Given the description of an element on the screen output the (x, y) to click on. 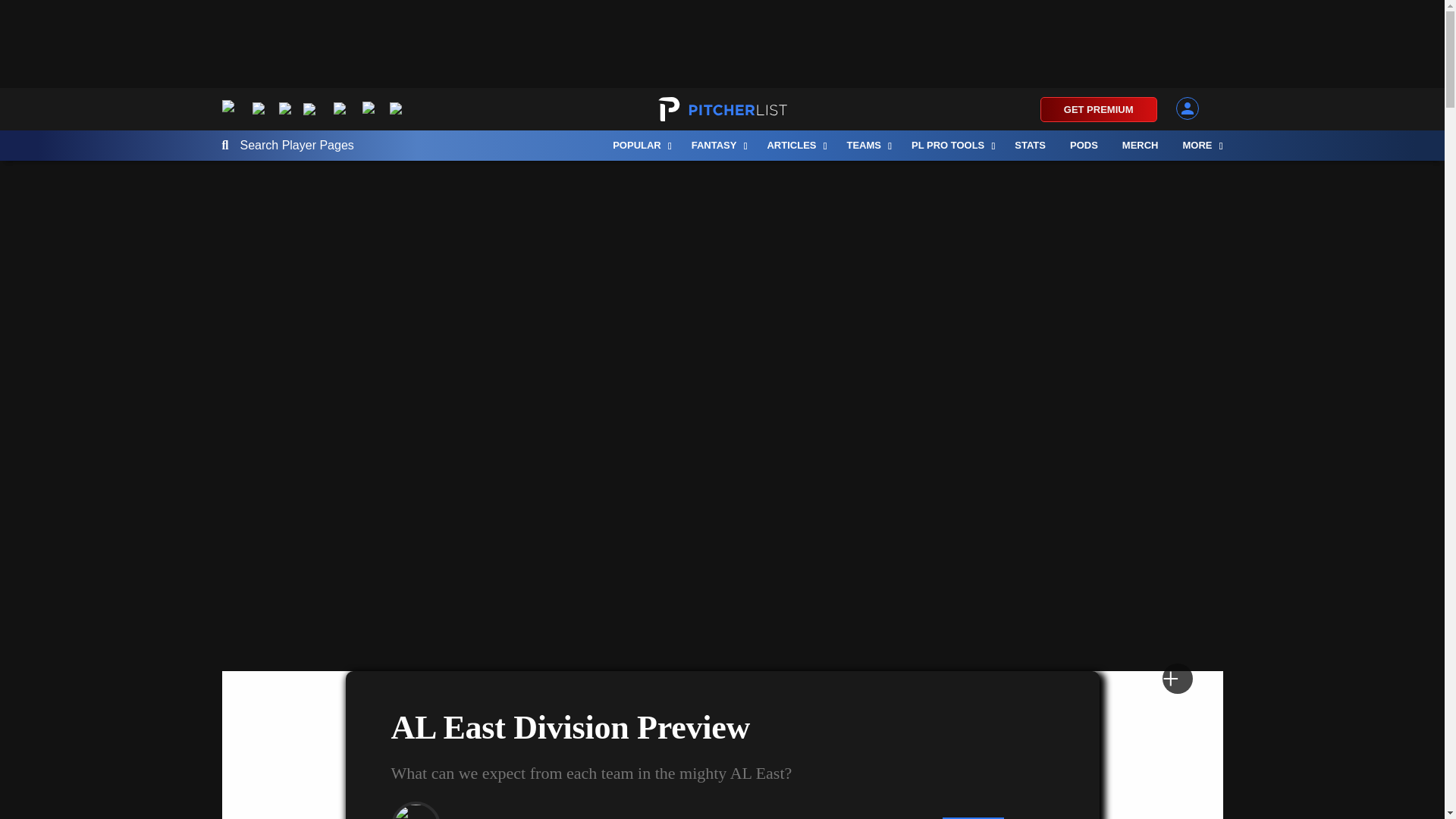
FANTASY (717, 145)
GET PREMIUM (1099, 109)
